Given the description of an element on the screen output the (x, y) to click on. 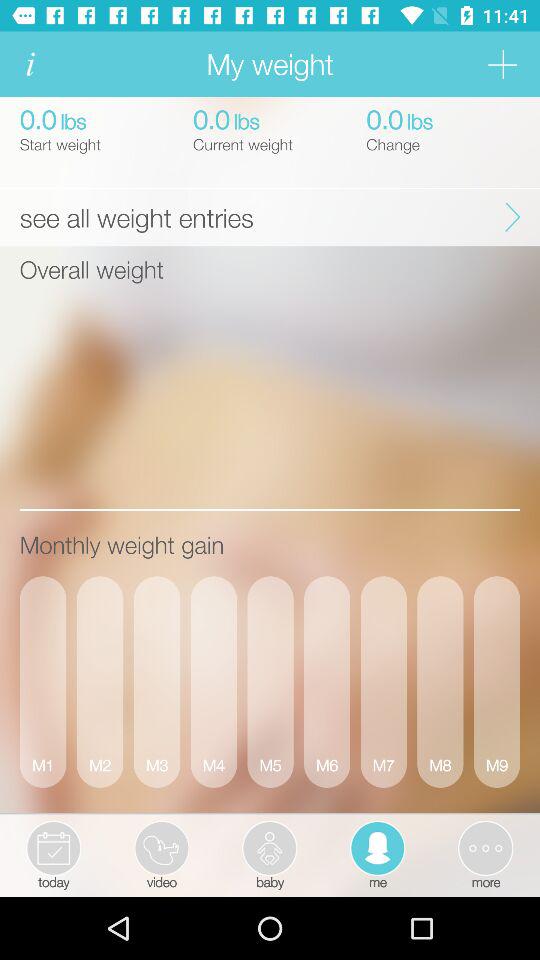
click for more information (30, 63)
